Given the description of an element on the screen output the (x, y) to click on. 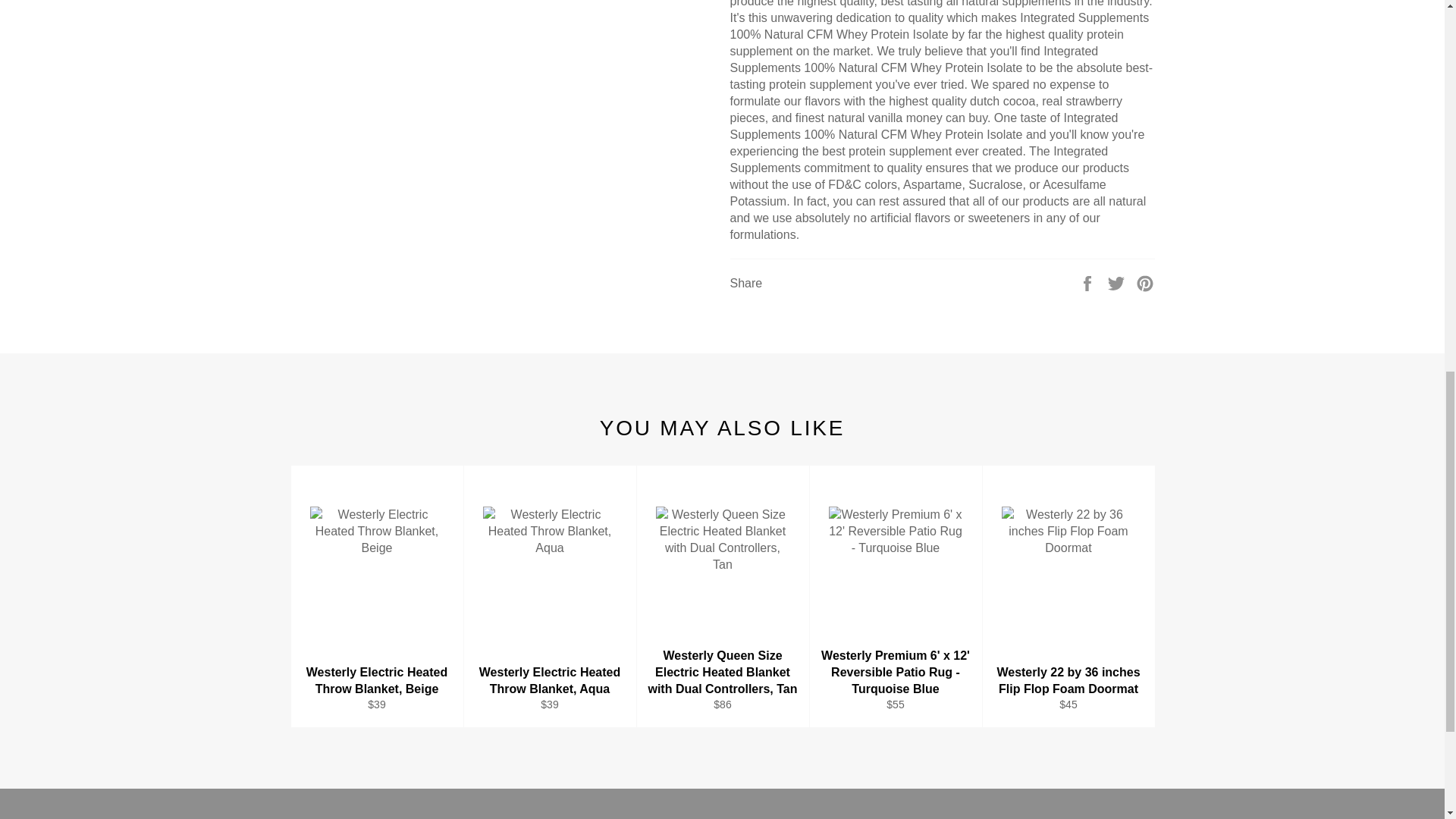
Pin on Pinterest (1144, 282)
Pin on Pinterest (1144, 282)
Tweet on Twitter (1117, 282)
Tweet on Twitter (1117, 282)
Share on Facebook (1088, 282)
Share on Facebook (1088, 282)
